Given the description of an element on the screen output the (x, y) to click on. 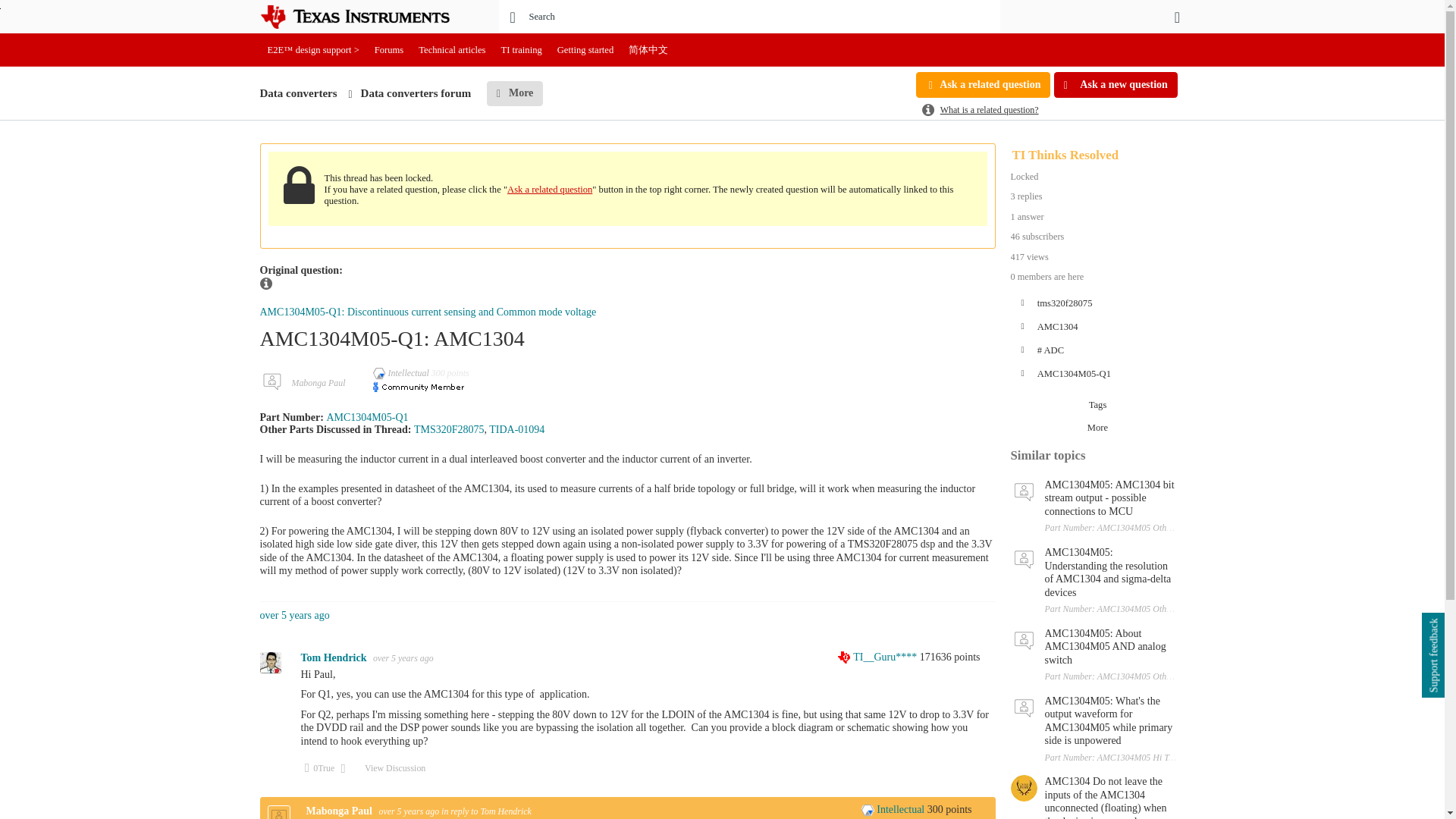
Getting started (585, 49)
Technical articles (451, 49)
TI training (521, 49)
Link to Product Folder (366, 417)
Link to Product Folder (448, 429)
Click here for explanation of levels (893, 808)
Home (365, 16)
Click here for explanation of levels (401, 372)
Link to Tool Folder (516, 429)
